Given the description of an element on the screen output the (x, y) to click on. 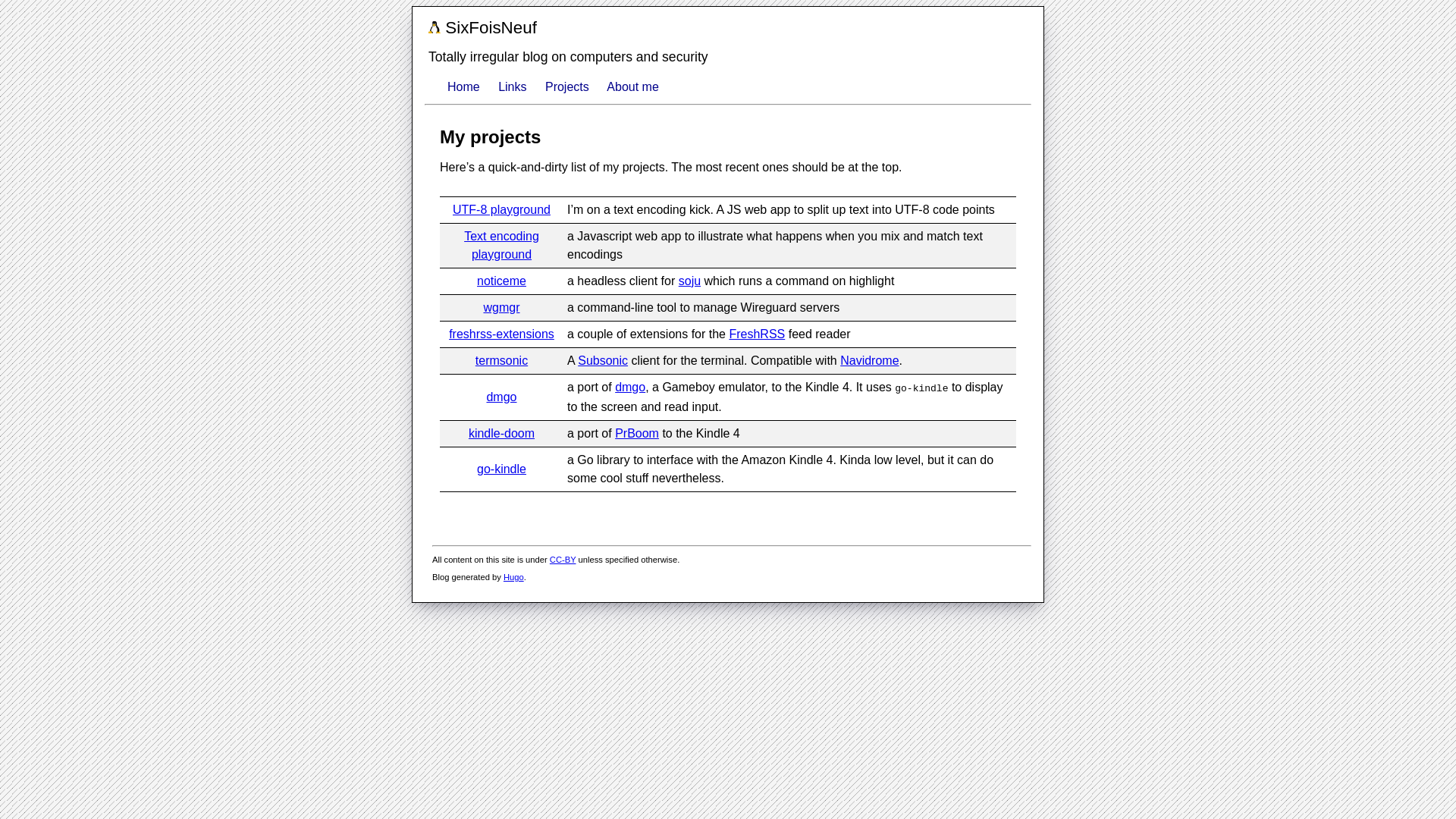
dmgo (629, 386)
soju (689, 280)
Home (463, 86)
About me (632, 86)
PrBoom (636, 432)
termsonic (501, 359)
Text encoding playground (501, 245)
noticeme (501, 280)
freshrss-extensions (501, 333)
Hugo (513, 576)
FreshRSS (756, 333)
Links (511, 86)
UTF-8 playground (501, 209)
dmgo (501, 396)
wgmgr (501, 307)
